Given the description of an element on the screen output the (x, y) to click on. 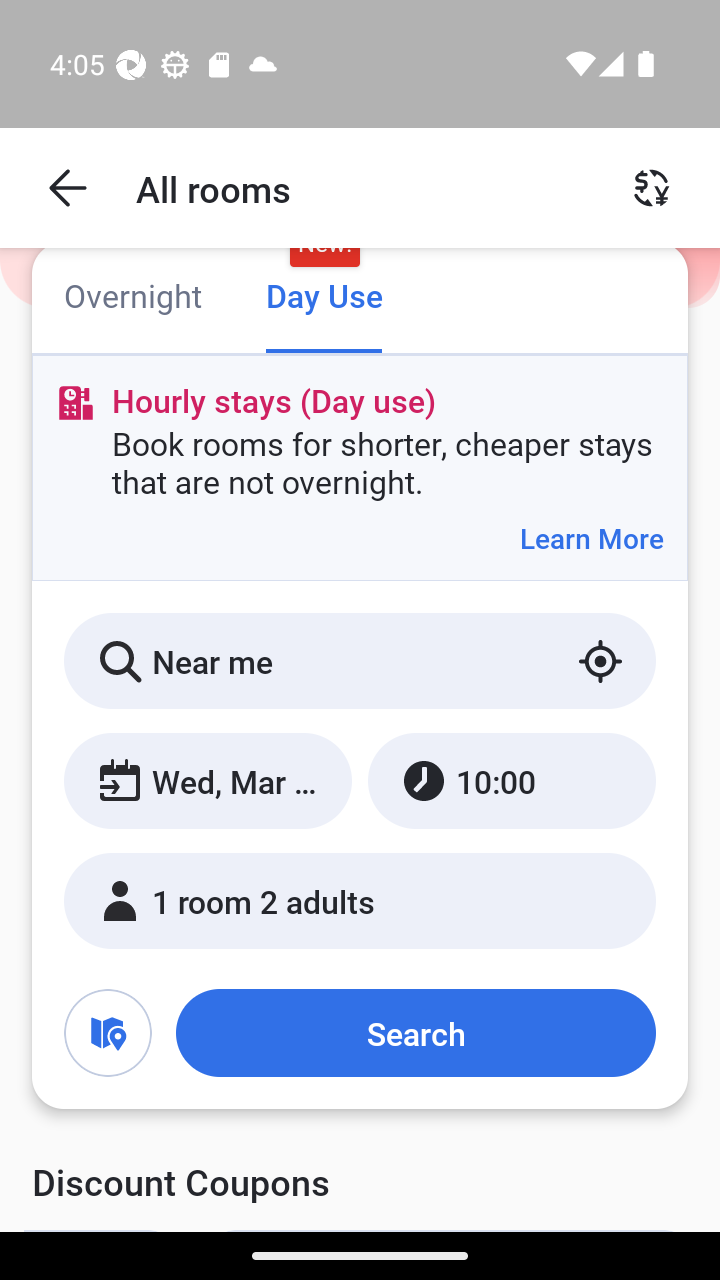
Overnight (132, 298)
Learn More (591, 538)
Near me (359, 661)
Wed, Mar 13 (208, 781)
10:00 (511, 781)
1 room 2 adults (359, 900)
Search (415, 1033)
